Given the description of an element on the screen output the (x, y) to click on. 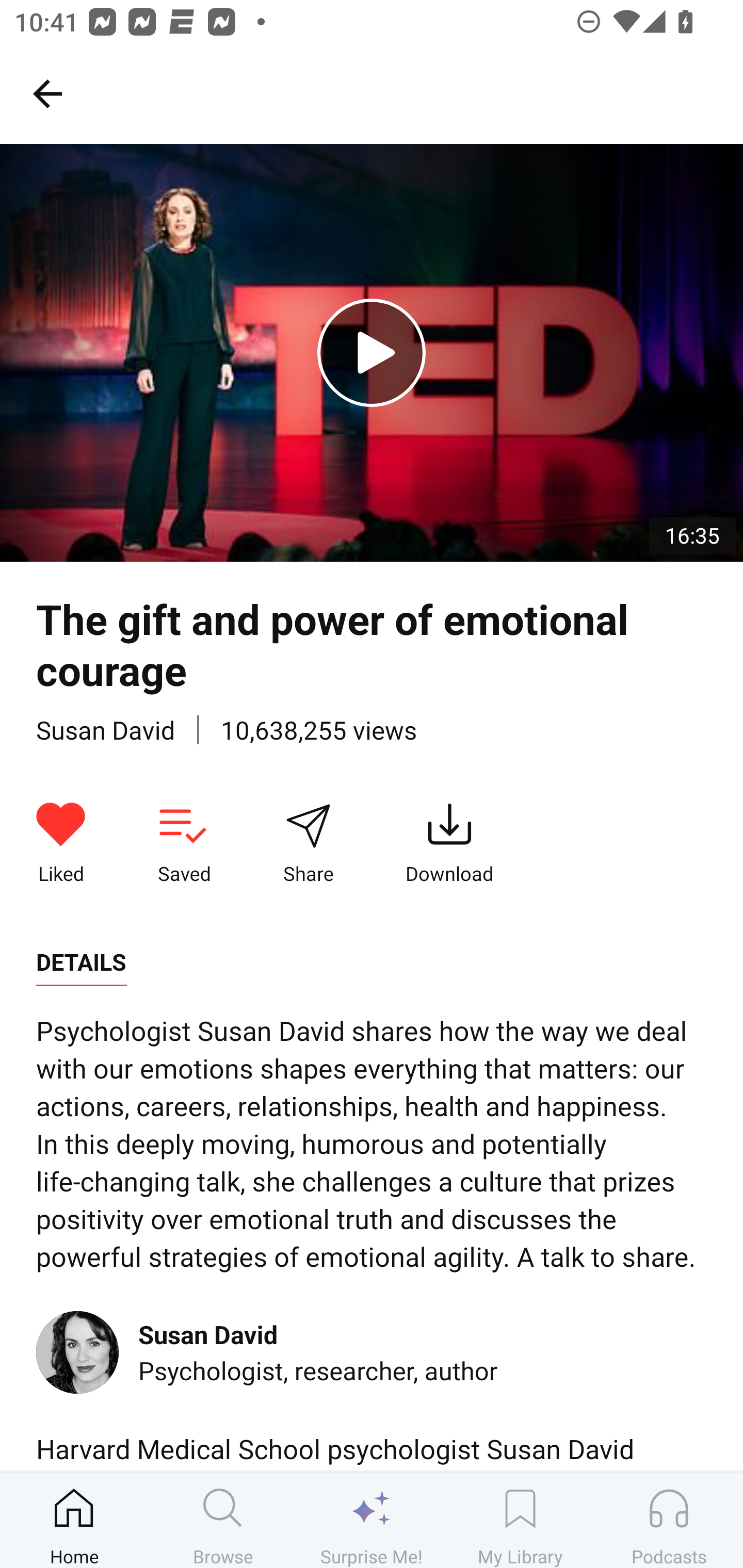
Home, back (47, 92)
Liked (60, 843)
Saved (183, 843)
Share (308, 843)
Download (449, 843)
DETAILS (80, 962)
Home (74, 1520)
Browse (222, 1520)
Surprise Me! (371, 1520)
My Library (519, 1520)
Podcasts (668, 1520)
